Given the description of an element on the screen output the (x, y) to click on. 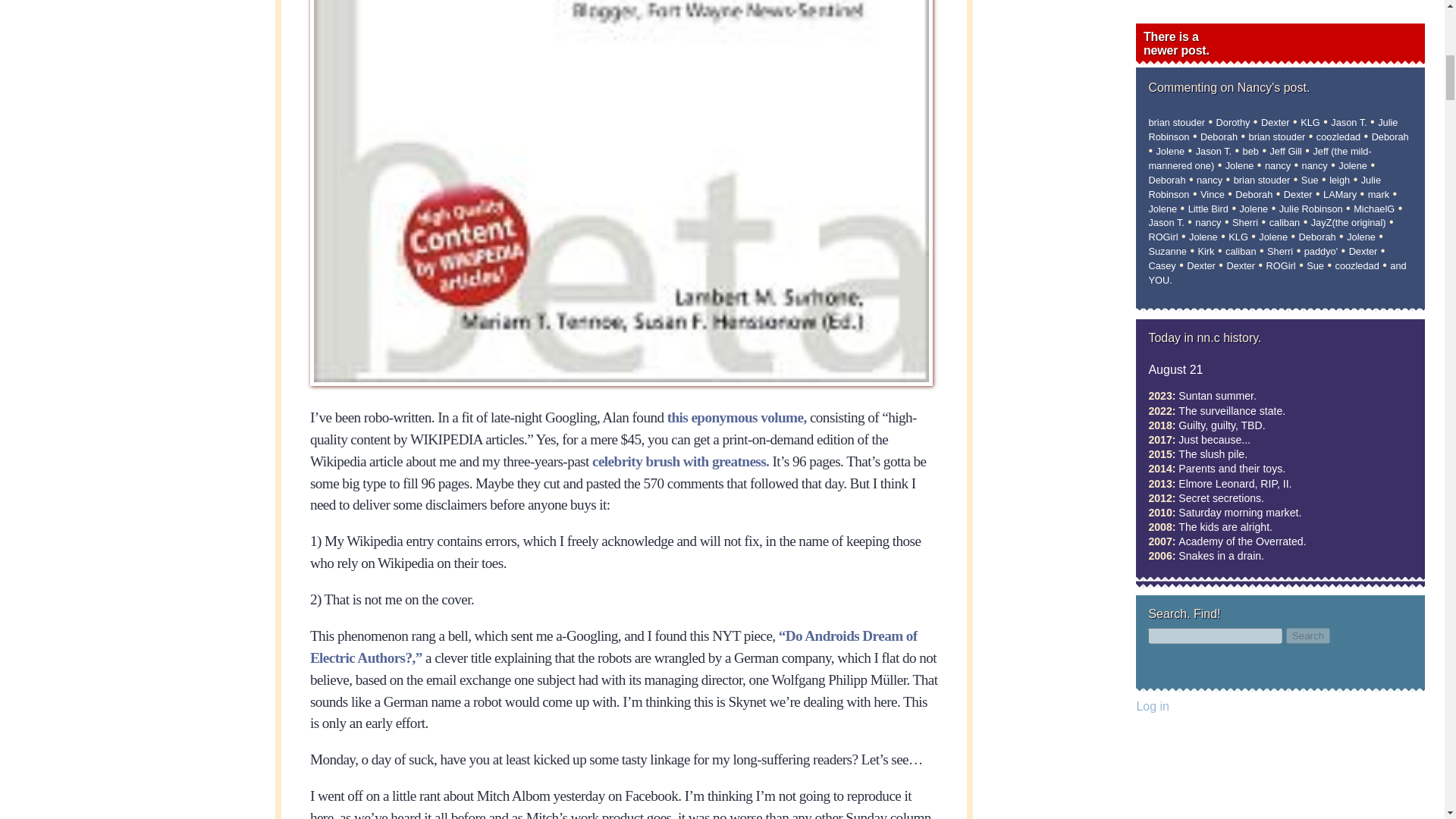
this eponymous volume, (736, 417)
celebrity brush with greatness. (680, 461)
